Given the description of an element on the screen output the (x, y) to click on. 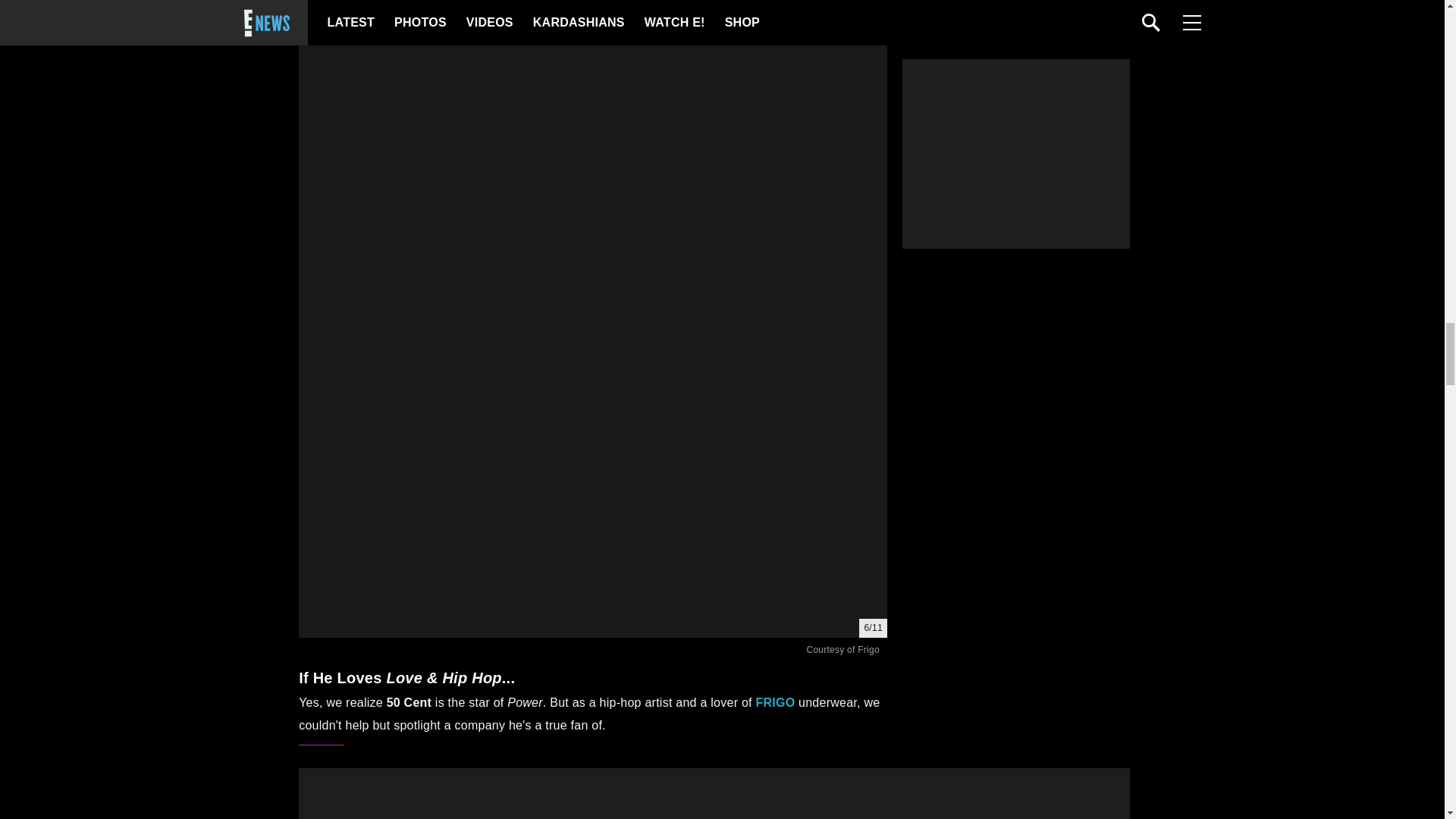
FRIGO (774, 702)
